Given the description of an element on the screen output the (x, y) to click on. 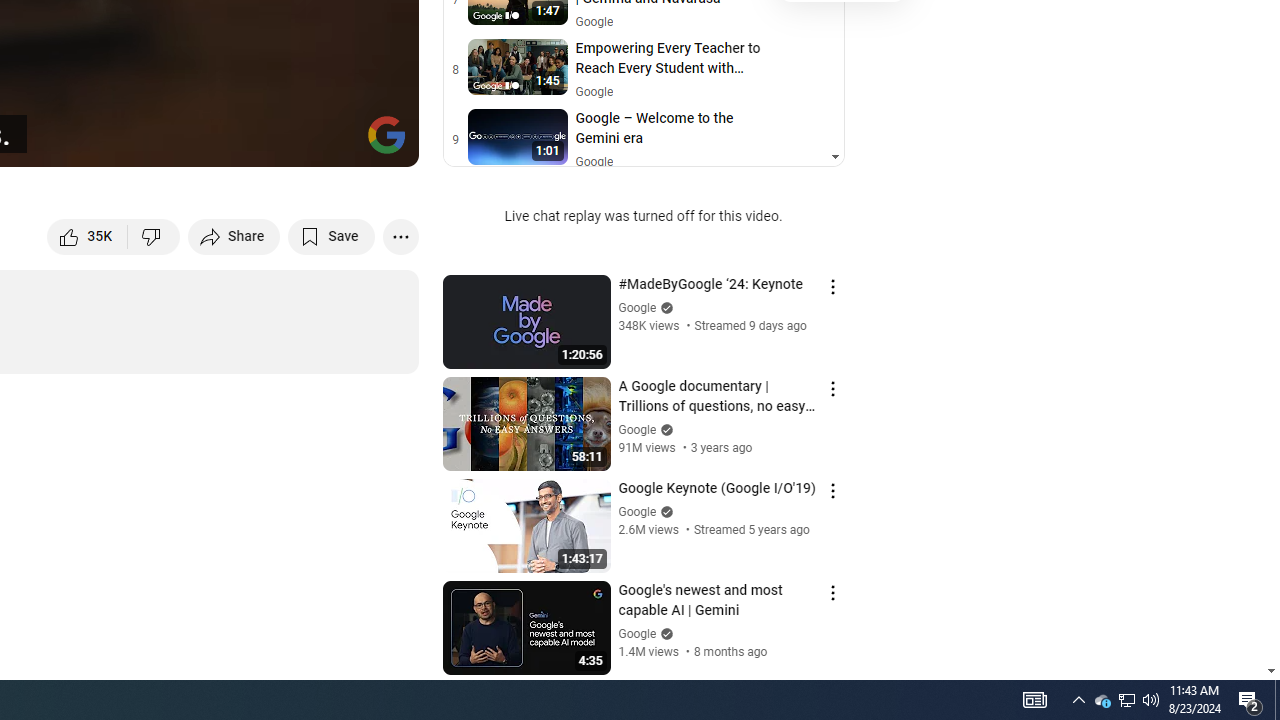
Subtitles/closed captions unavailable (190, 142)
Channel watermark (386, 134)
Action menu (832, 592)
